Given the description of an element on the screen output the (x, y) to click on. 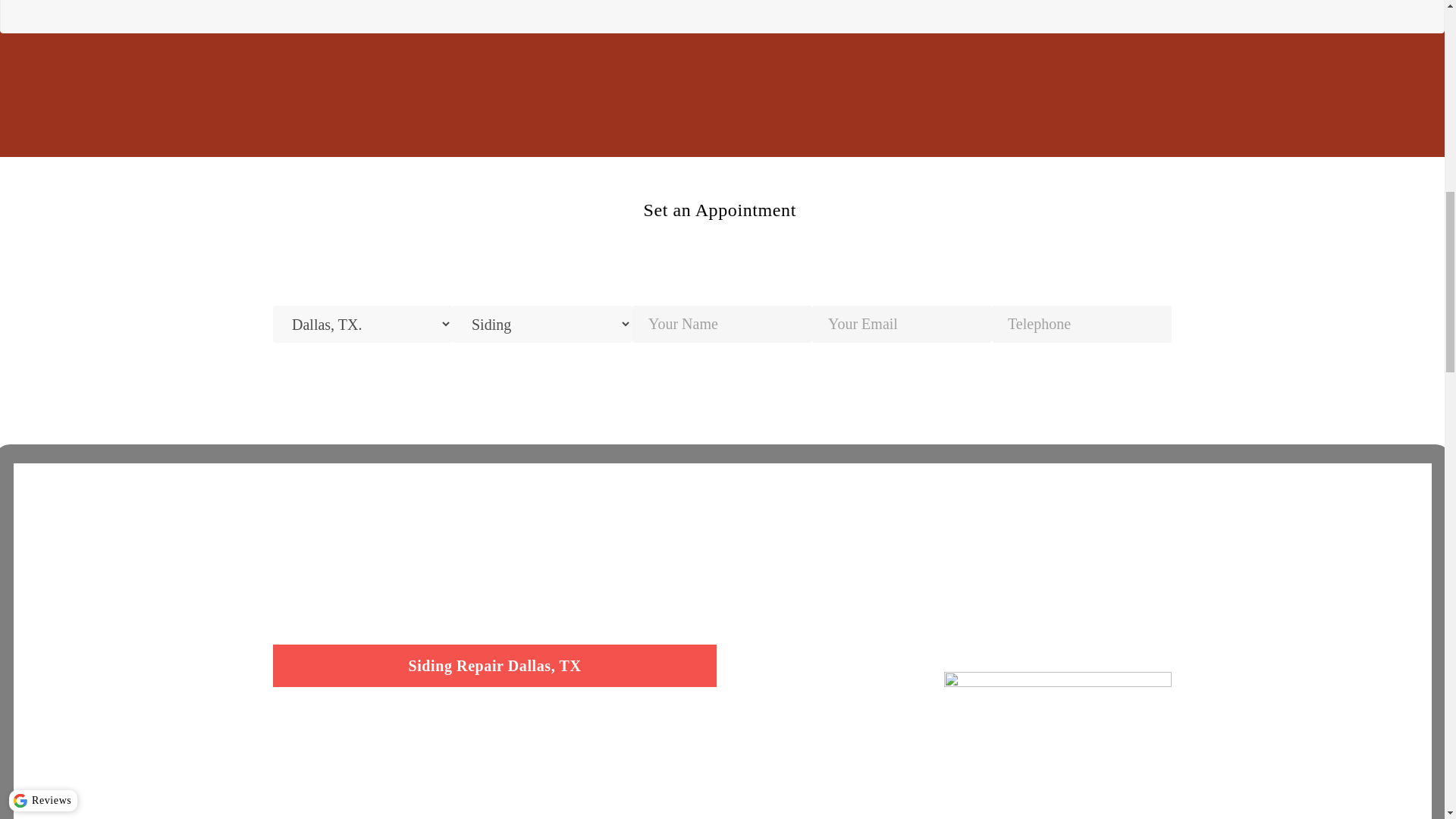
Googlo. (1057, 729)
Request a quote (722, 361)
Request a quote (722, 361)
